Given the description of an element on the screen output the (x, y) to click on. 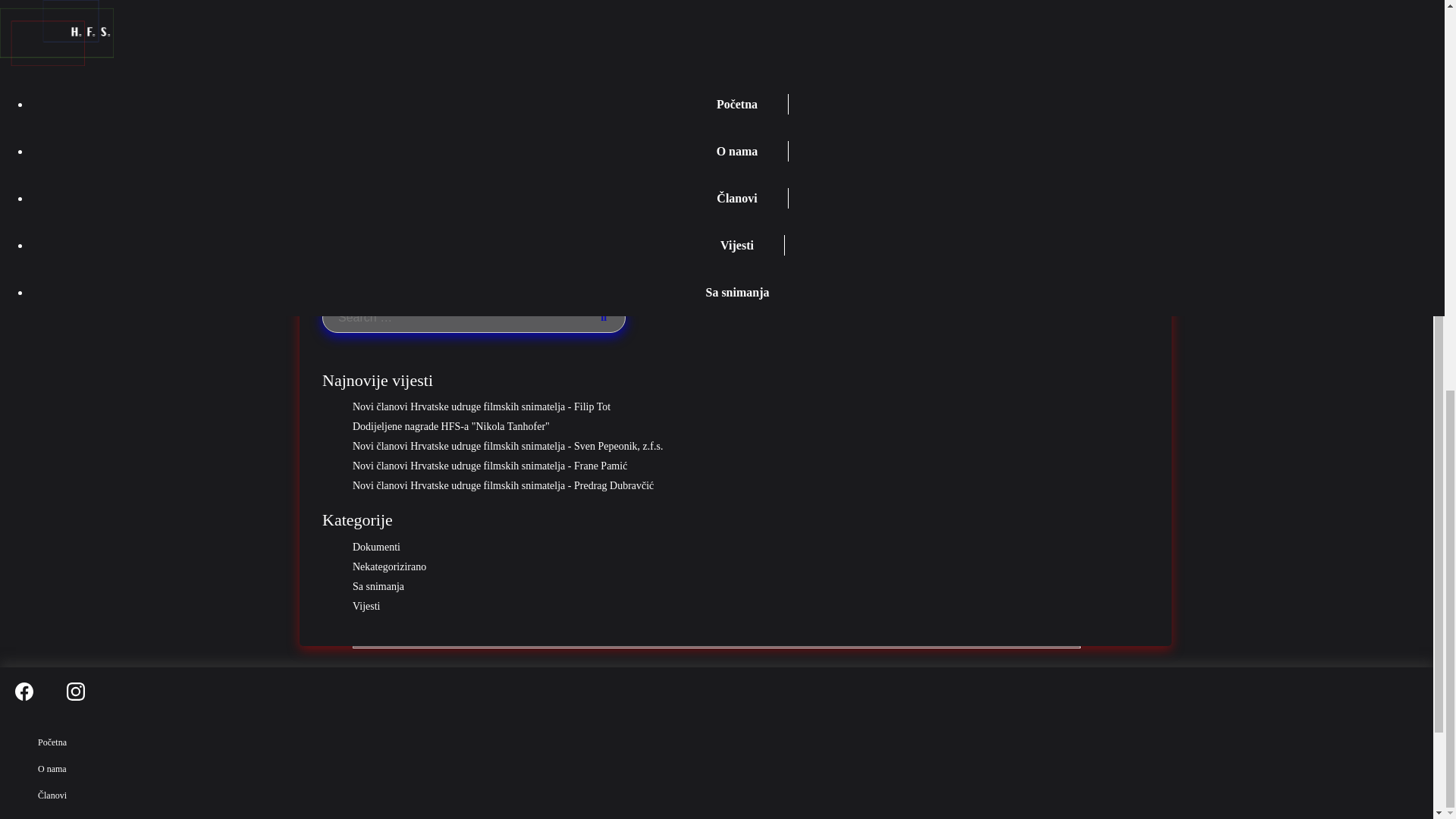
Nekategorizirano (750, 567)
Dodijeljene nagrade HFS-a "Nikola Tanhofer" (750, 426)
Vijesti (750, 606)
Sa snimanja (750, 586)
Vijesti (49, 817)
Dokumenti (750, 547)
O nama (51, 768)
